Given the description of an element on the screen output the (x, y) to click on. 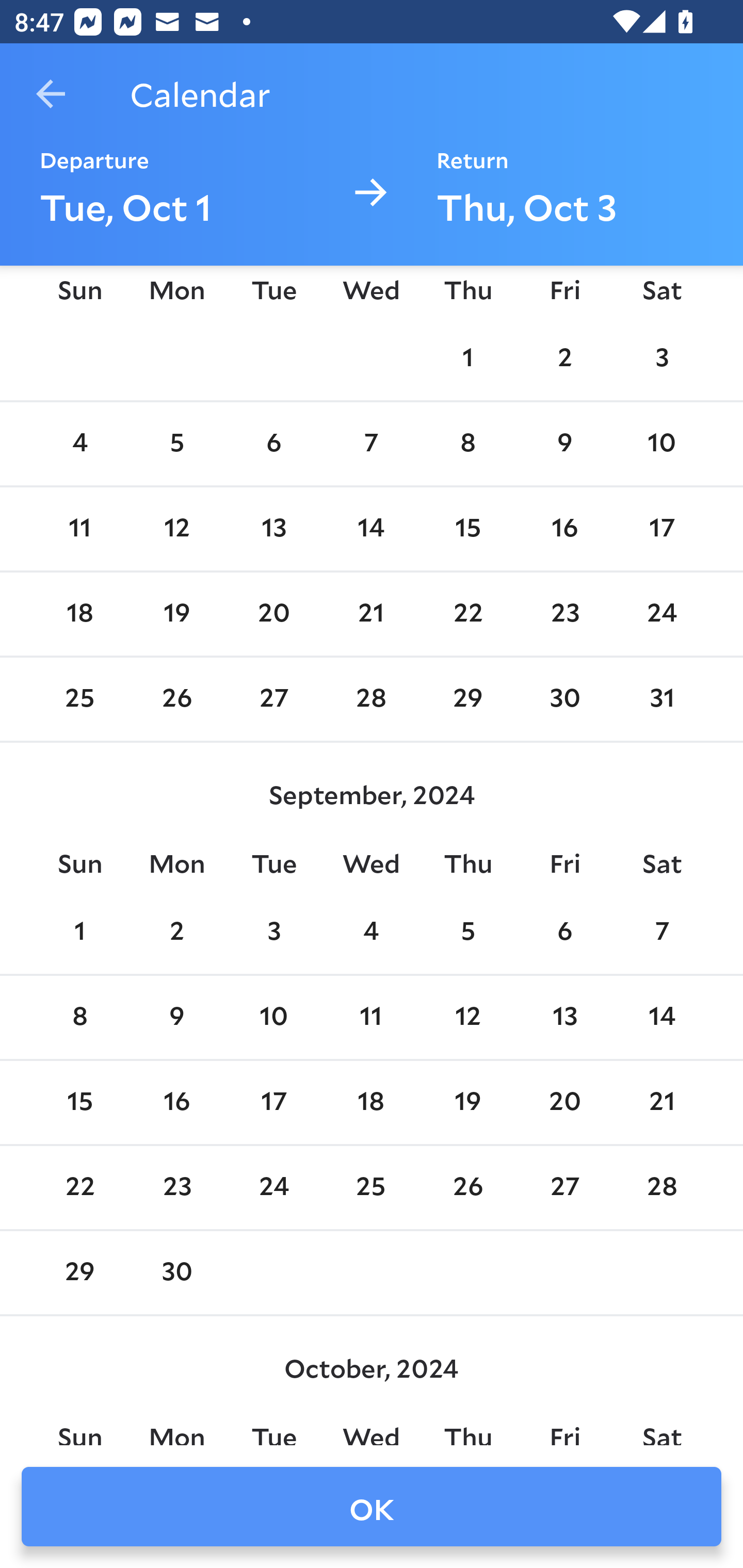
Navigate up (50, 93)
1 (467, 359)
2 (565, 359)
3 (661, 359)
4 (79, 443)
5 (177, 443)
6 (273, 443)
7 (371, 443)
8 (467, 443)
9 (565, 443)
10 (661, 443)
11 (79, 529)
12 (177, 529)
13 (273, 529)
14 (371, 529)
15 (467, 529)
16 (565, 529)
17 (661, 529)
18 (79, 614)
19 (177, 614)
20 (273, 614)
21 (371, 614)
22 (467, 614)
23 (565, 614)
24 (661, 614)
25 (79, 699)
26 (177, 699)
27 (273, 699)
28 (371, 699)
29 (467, 699)
30 (565, 699)
31 (661, 699)
1 (79, 932)
2 (177, 932)
3 (273, 932)
4 (371, 932)
5 (467, 932)
6 (565, 932)
7 (661, 932)
8 (79, 1017)
9 (177, 1017)
10 (273, 1017)
11 (371, 1017)
12 (467, 1017)
13 (565, 1017)
14 (661, 1017)
15 (79, 1102)
16 (177, 1102)
17 (273, 1102)
18 (371, 1102)
19 (467, 1102)
20 (565, 1102)
21 (661, 1102)
22 (79, 1188)
23 (177, 1188)
24 (273, 1188)
25 (371, 1188)
26 (467, 1188)
27 (565, 1188)
28 (661, 1188)
29 (79, 1273)
30 (177, 1273)
OK (371, 1506)
